Given the description of an element on the screen output the (x, y) to click on. 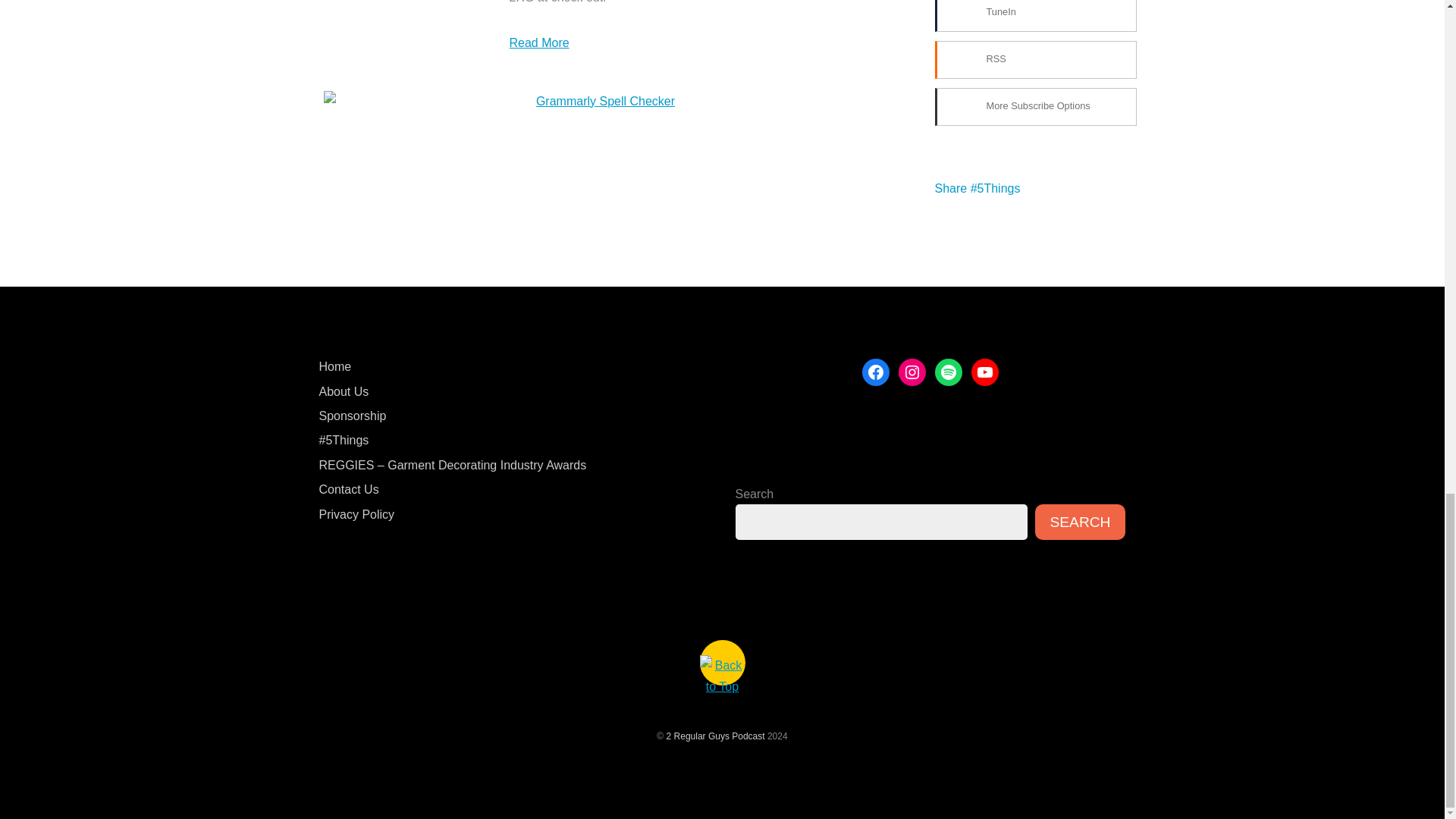
Read More (539, 42)
